Given the description of an element on the screen output the (x, y) to click on. 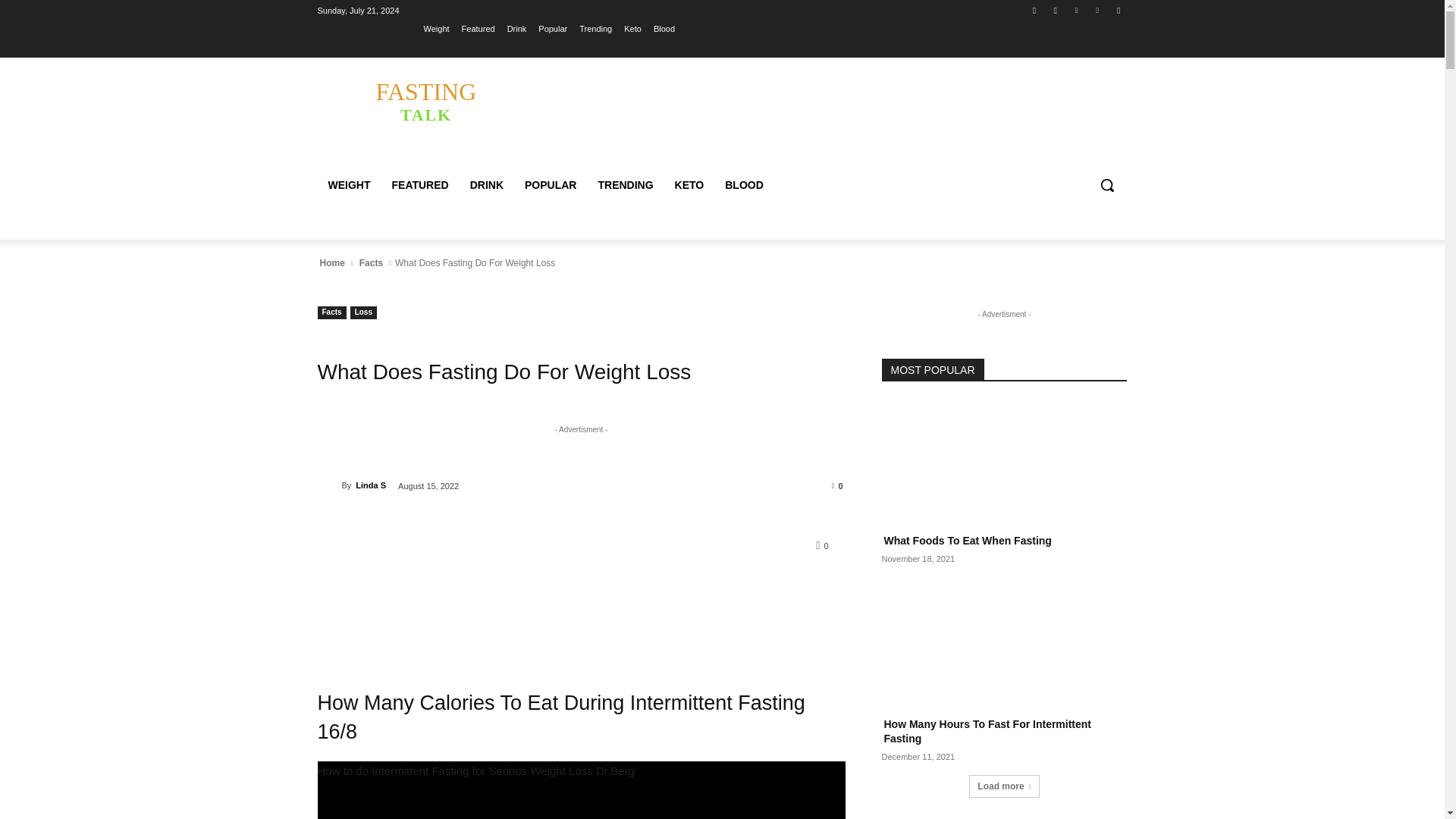
Facebook (1034, 9)
Drink (516, 28)
Vimeo (1097, 9)
Linda S (425, 100)
POPULAR (328, 485)
Instagram (549, 185)
DRINK (1055, 9)
FEATURED (486, 185)
Youtube (419, 185)
Trending (1117, 9)
Twitter (595, 28)
Weight (1075, 9)
Home (436, 28)
KETO (331, 263)
